Given the description of an element on the screen output the (x, y) to click on. 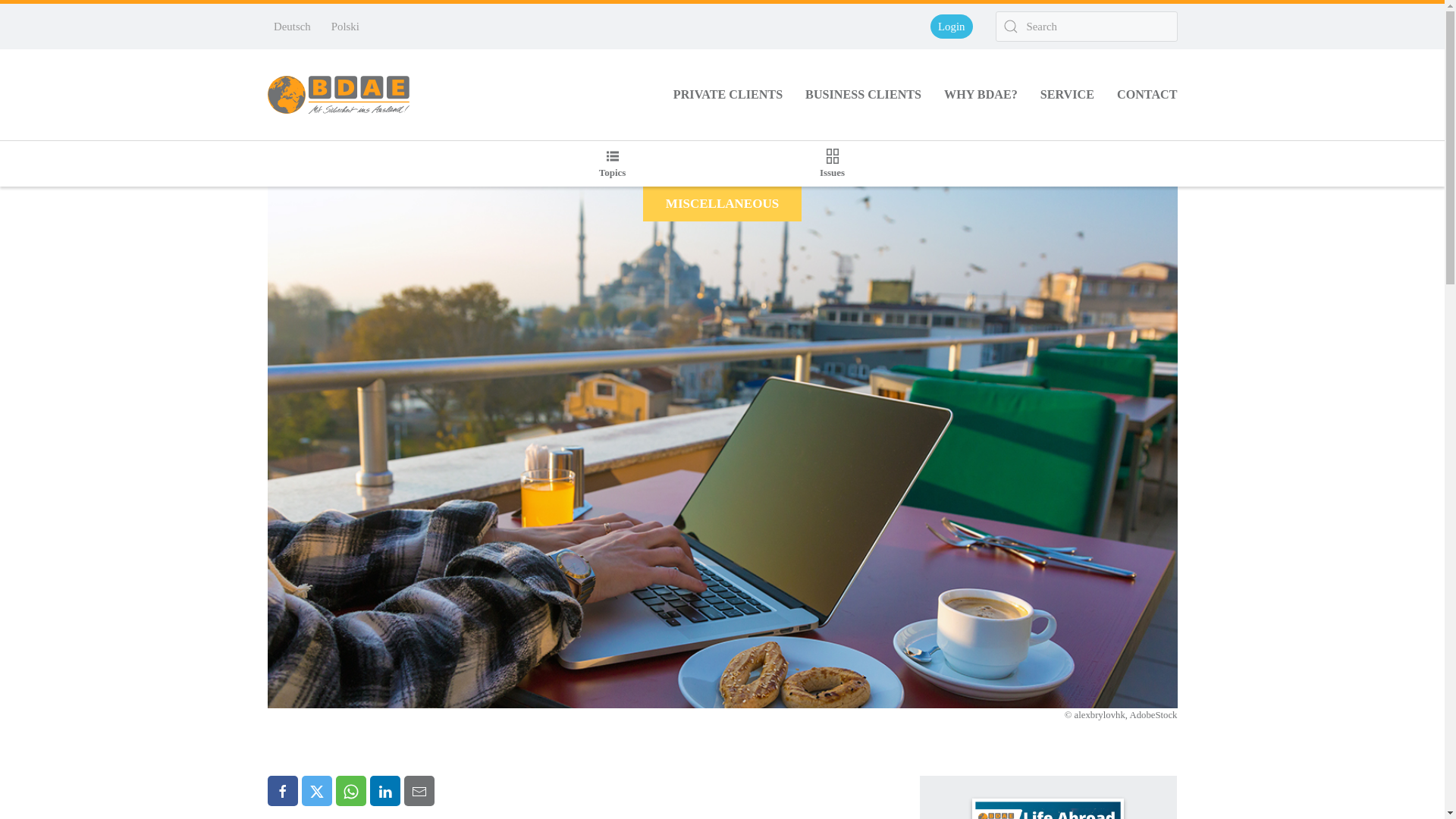
PRIVATE CLIENTS (727, 94)
WHY BDAE? (980, 94)
Polski (344, 25)
BUSINESS CLIENTS (863, 94)
Login (951, 26)
Deutsch (291, 25)
